Given the description of an element on the screen output the (x, y) to click on. 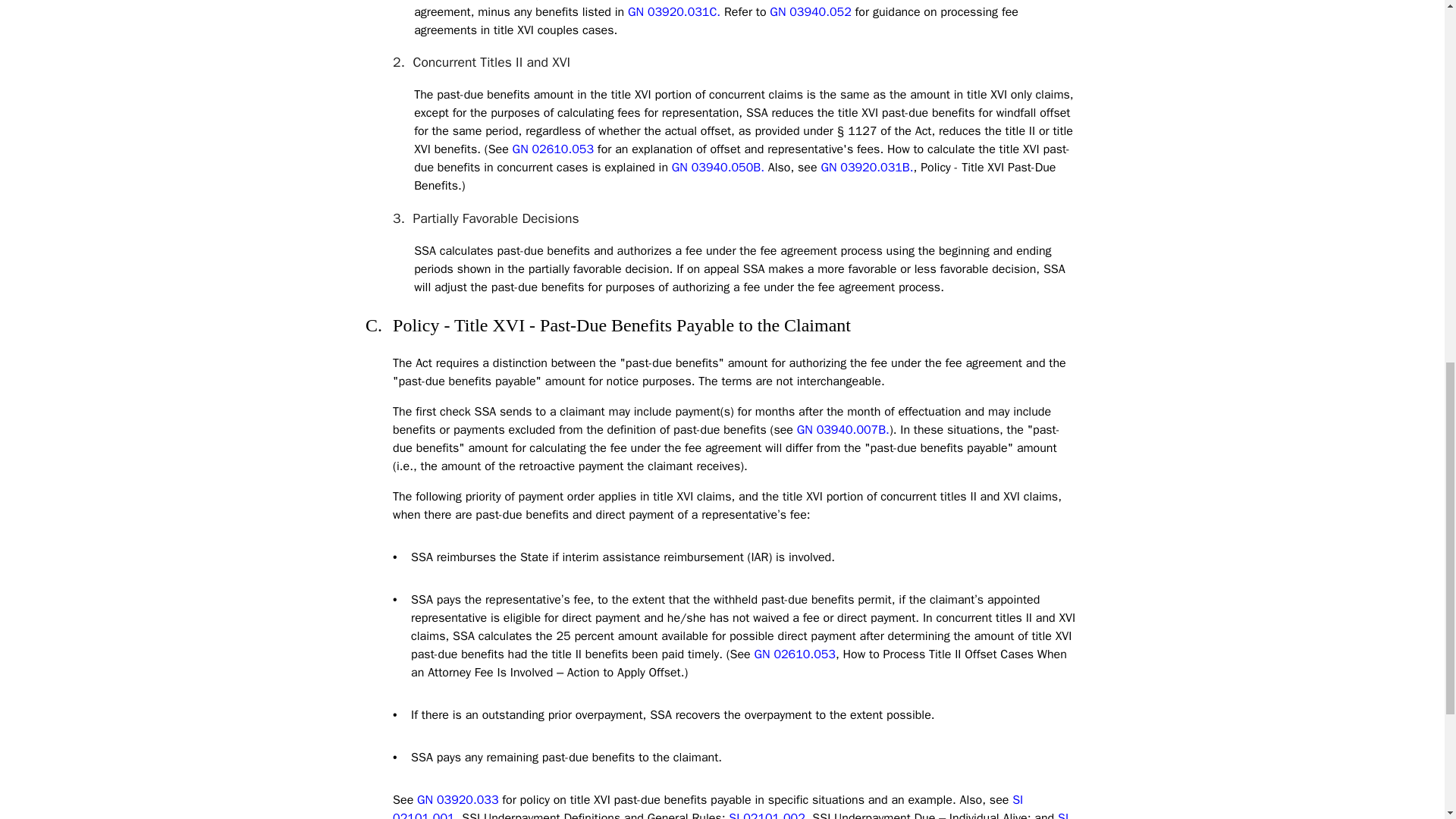
GN 03920.031B. (866, 167)
GN 03920.031C. (673, 11)
SI 02101.002 (767, 814)
SI 02101.003 (730, 814)
GN 03940.050B. (717, 167)
GN 02610.053 (553, 149)
GN 03940.007B. (842, 429)
GN 02610.053 (794, 654)
GN 03920.033 (456, 799)
GN 03940.052 (810, 11)
SI 02101.001 (708, 805)
